Given the description of an element on the screen output the (x, y) to click on. 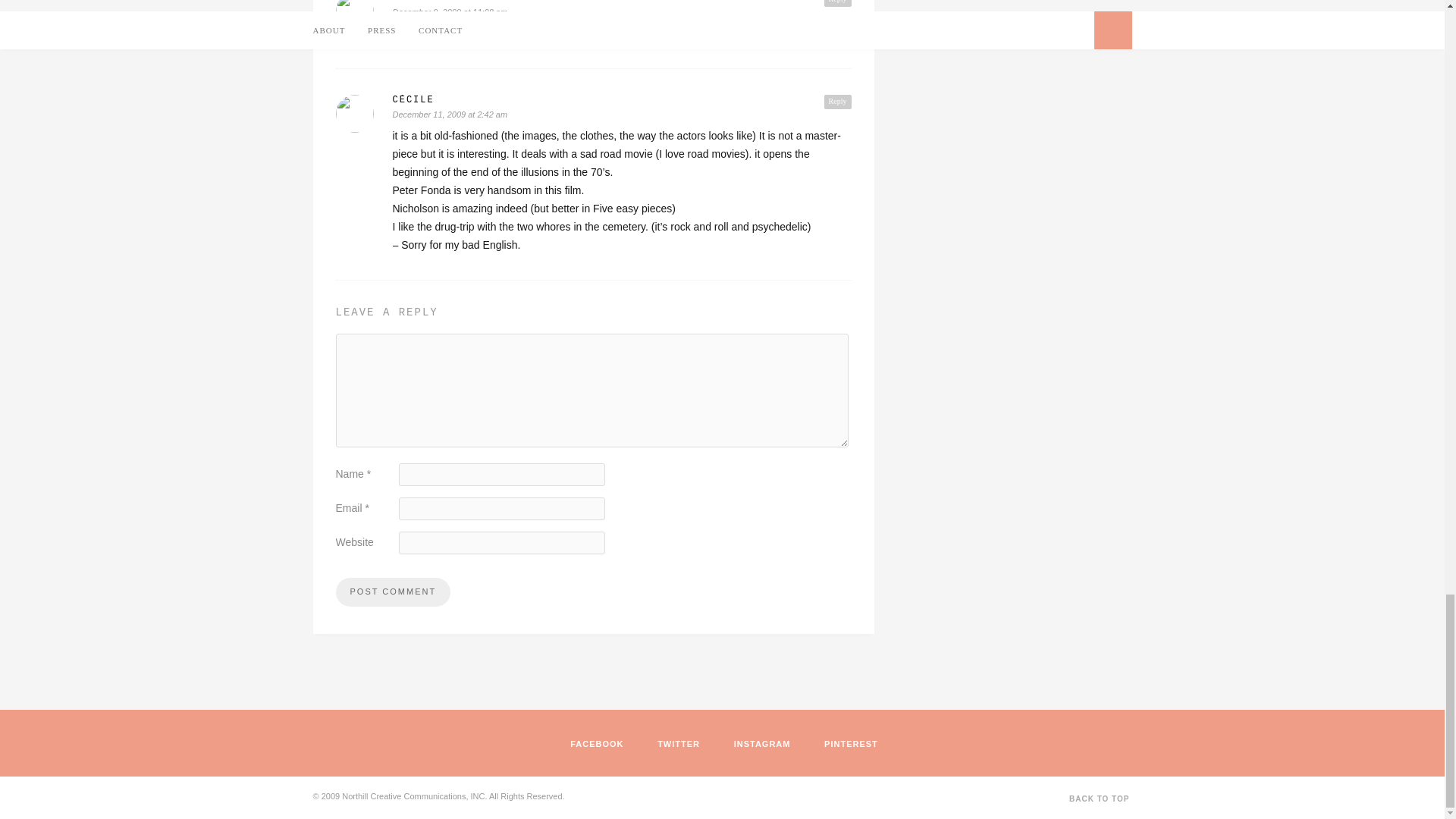
Post Comment (391, 592)
Post Comment (391, 592)
Reply (837, 3)
Reply (837, 101)
